Given the description of an element on the screen output the (x, y) to click on. 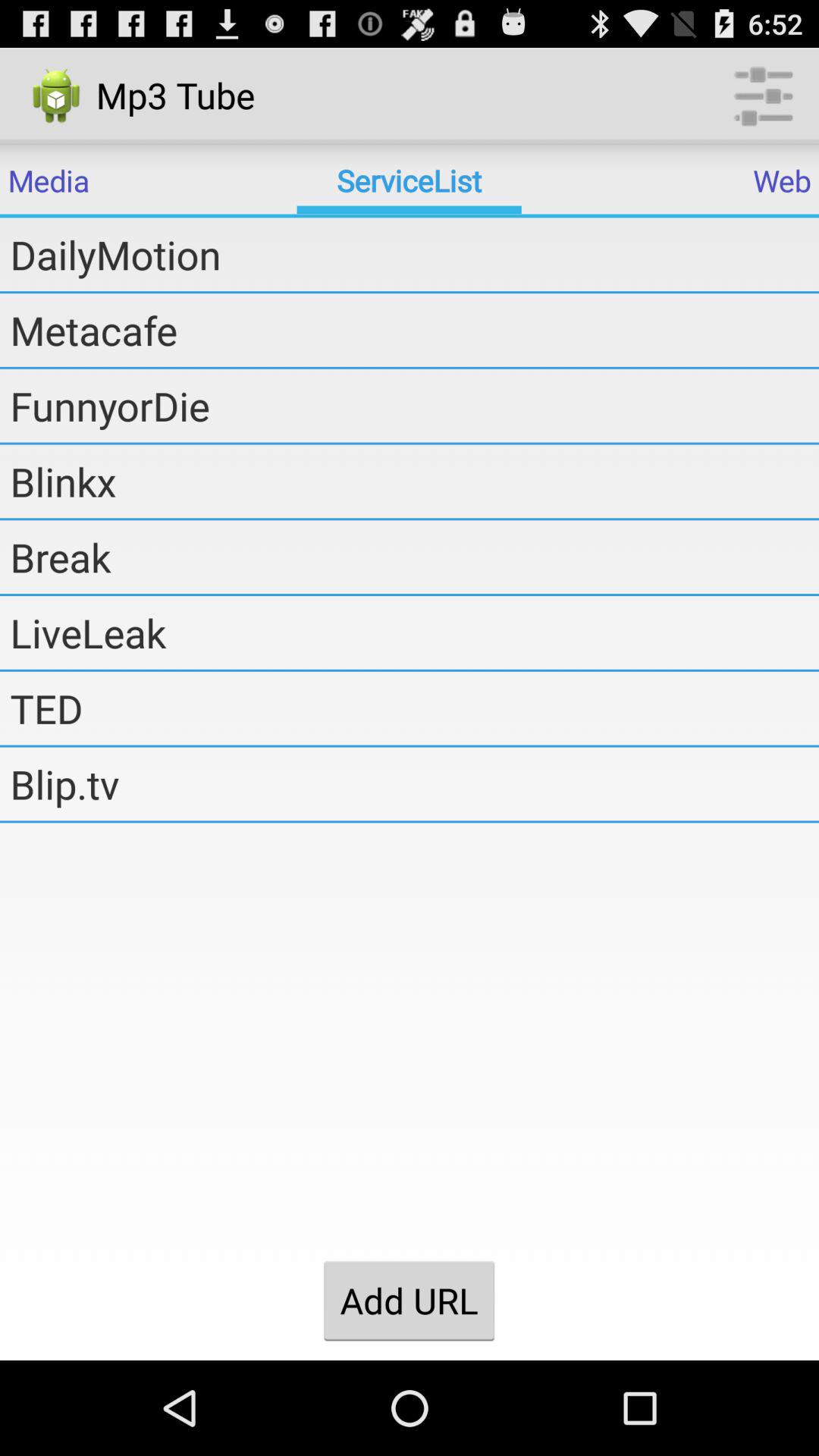
press the icon to the right of the mp3 tube item (763, 95)
